Given the description of an element on the screen output the (x, y) to click on. 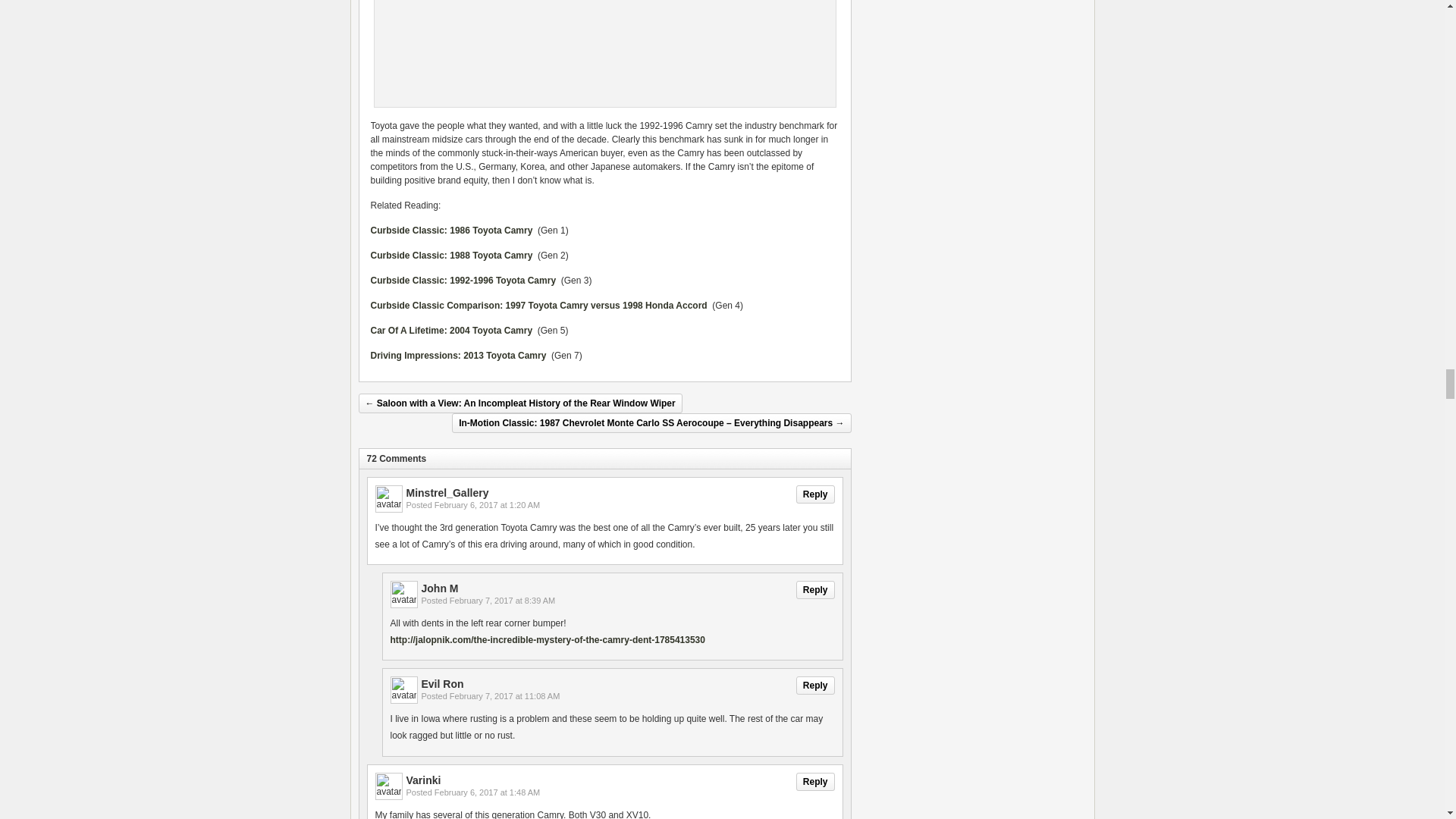
2017-02-06T01:48:36-08:00 (486, 791)
2017-02-06T01:20:04-08:00 (486, 504)
2017-02-07T08:39:28-08:00 (501, 600)
2017-02-07T11:08:33-08:00 (504, 696)
